Given the description of an element on the screen output the (x, y) to click on. 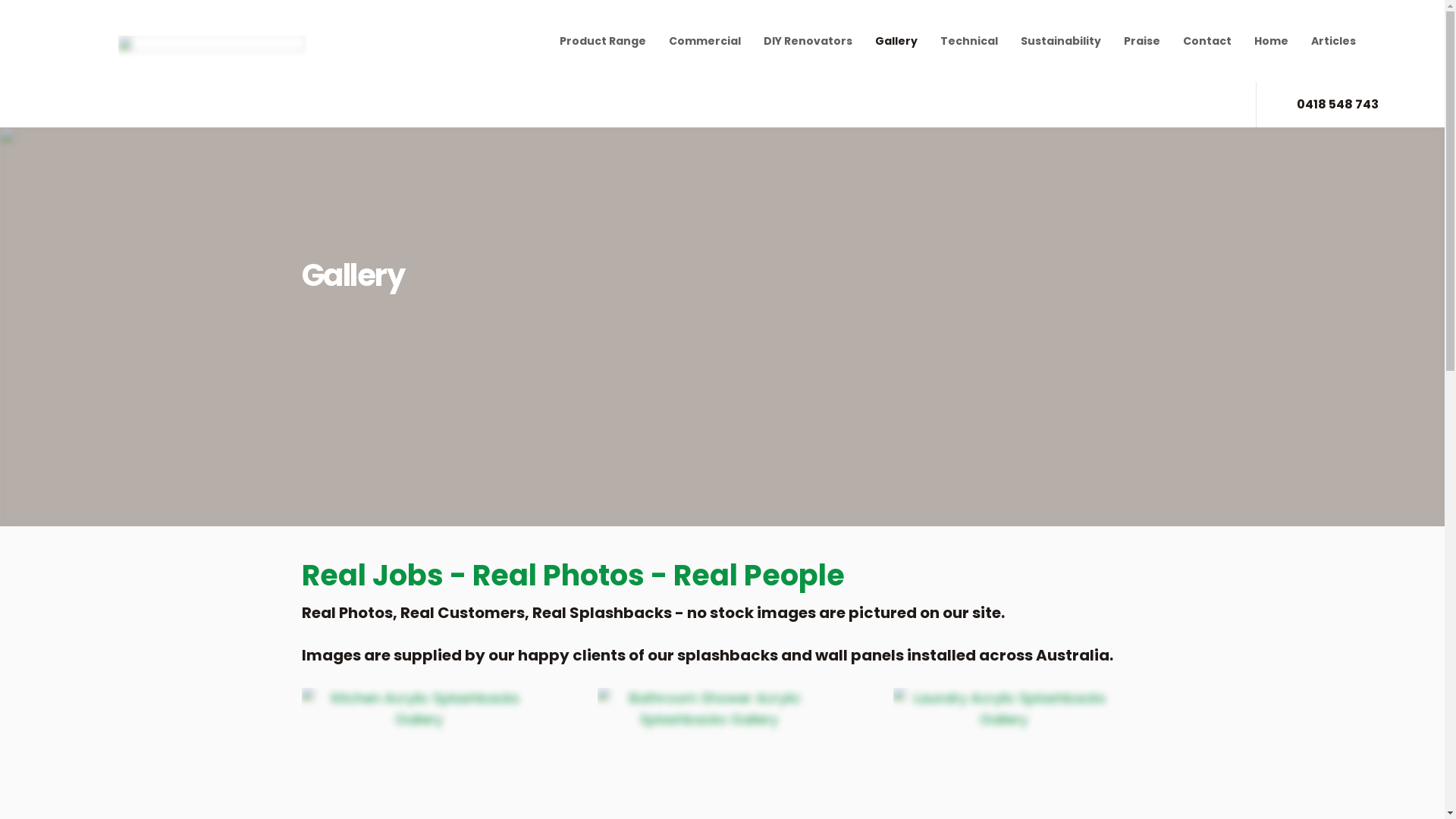
Mail Element type: text (1231, 104)
Sustainability Element type: text (1071, 40)
Commercial Element type: text (715, 40)
DIY Renovators Element type: text (819, 40)
0418 548 743 Element type: text (1324, 104)
Technical Element type: text (980, 40)
Instagram Element type: text (1178, 104)
Facebook Element type: text (1151, 104)
Product Range Element type: text (613, 40)
Pinterest Element type: text (1204, 104)
Contact Element type: text (1218, 40)
Home Element type: text (1282, 40)
Gallery Element type: text (907, 40)
Articles Element type: text (1344, 40)
Praise Element type: text (1153, 40)
